Given the description of an element on the screen output the (x, y) to click on. 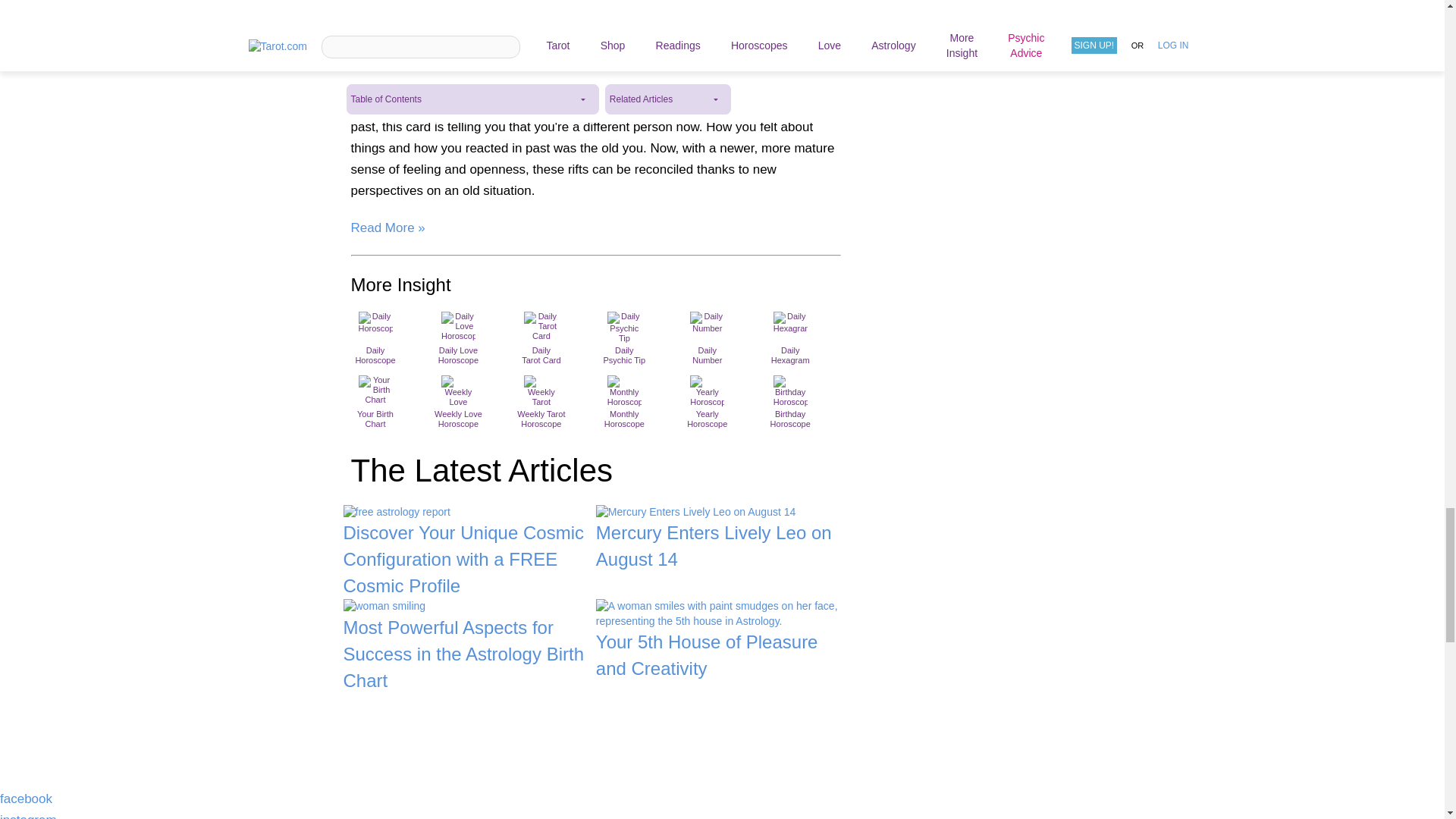
Mercury Enters Lively Leo on August 14 (721, 539)
Your 5th House of Pleasure and Creativity (721, 639)
